Given the description of an element on the screen output the (x, y) to click on. 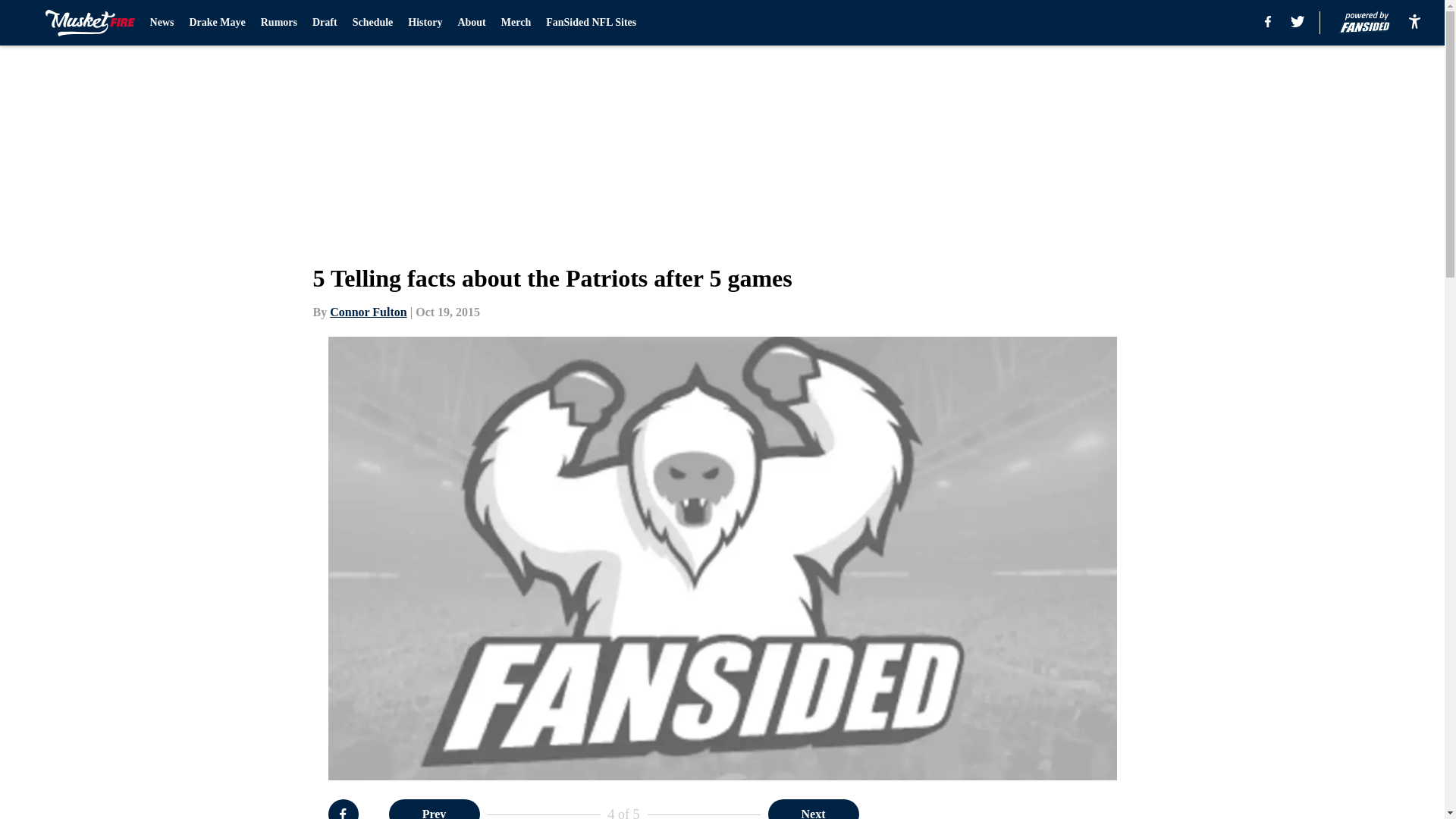
Connor Fulton (368, 311)
Prev (433, 809)
About (470, 22)
Draft (325, 22)
3rd party ad content (1047, 809)
FanSided NFL Sites (591, 22)
Merch (515, 22)
Drake Maye (216, 22)
Next (813, 809)
Schedule (372, 22)
History (424, 22)
Rumors (278, 22)
News (161, 22)
